Given the description of an element on the screen output the (x, y) to click on. 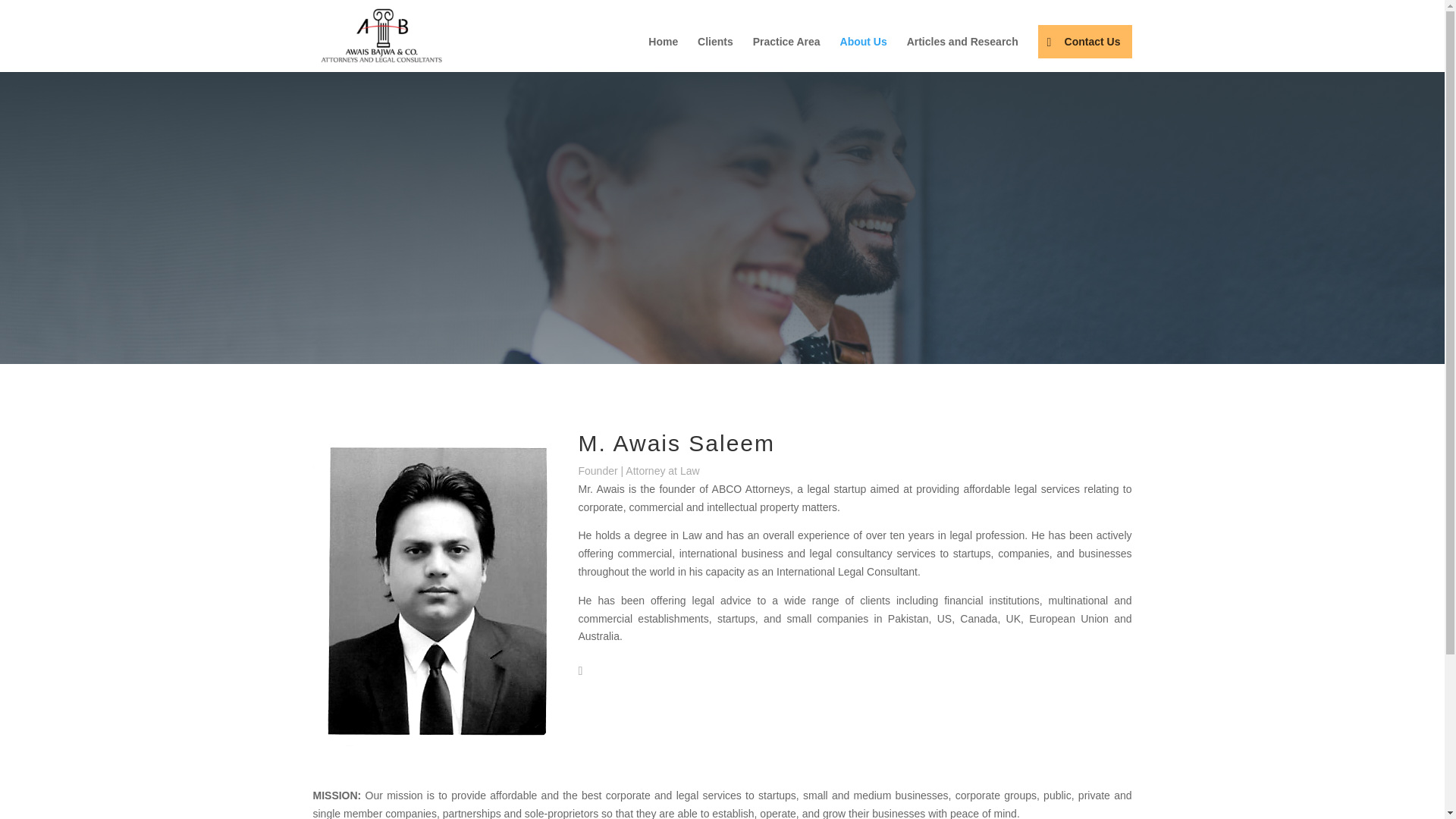
About Us (863, 54)
Contact Us (1085, 41)
Clients (715, 54)
Practice Area (786, 54)
Articles and Research (962, 54)
